Given the description of an element on the screen output the (x, y) to click on. 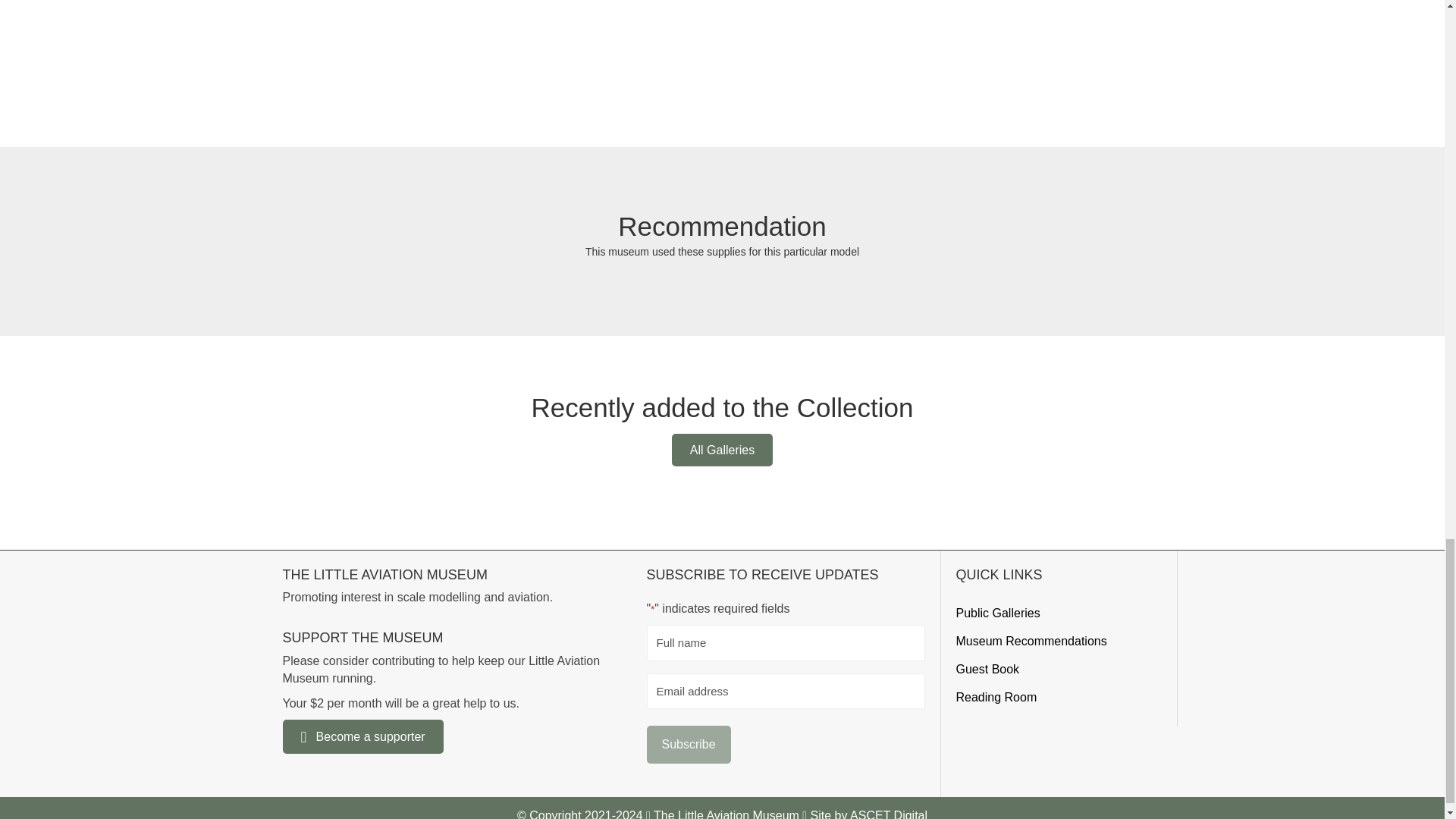
Subscribe (688, 743)
